Given the description of an element on the screen output the (x, y) to click on. 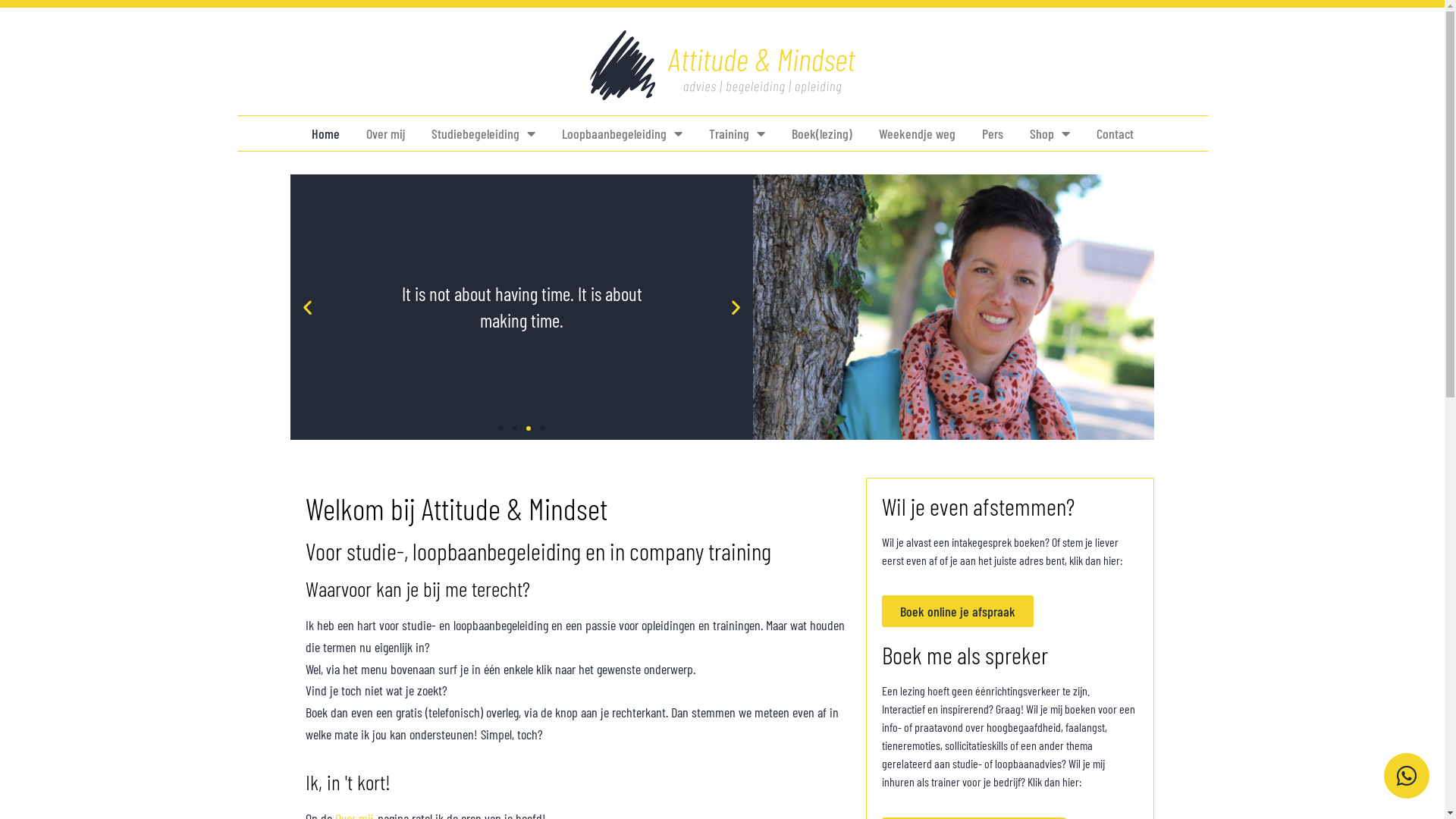
Pers Element type: text (991, 133)
Contact Element type: text (1114, 133)
Shop Element type: text (1049, 133)
Boek(lezing) Element type: text (821, 133)
Loopbaanbegeleiding Element type: text (621, 133)
Training Element type: text (736, 133)
Studiebegeleiding Element type: text (482, 133)
Weekendje weg Element type: text (916, 133)
Home Element type: text (324, 133)
Boek online je afspraak Element type: text (957, 611)
Over mij Element type: text (384, 133)
